Given the description of an element on the screen output the (x, y) to click on. 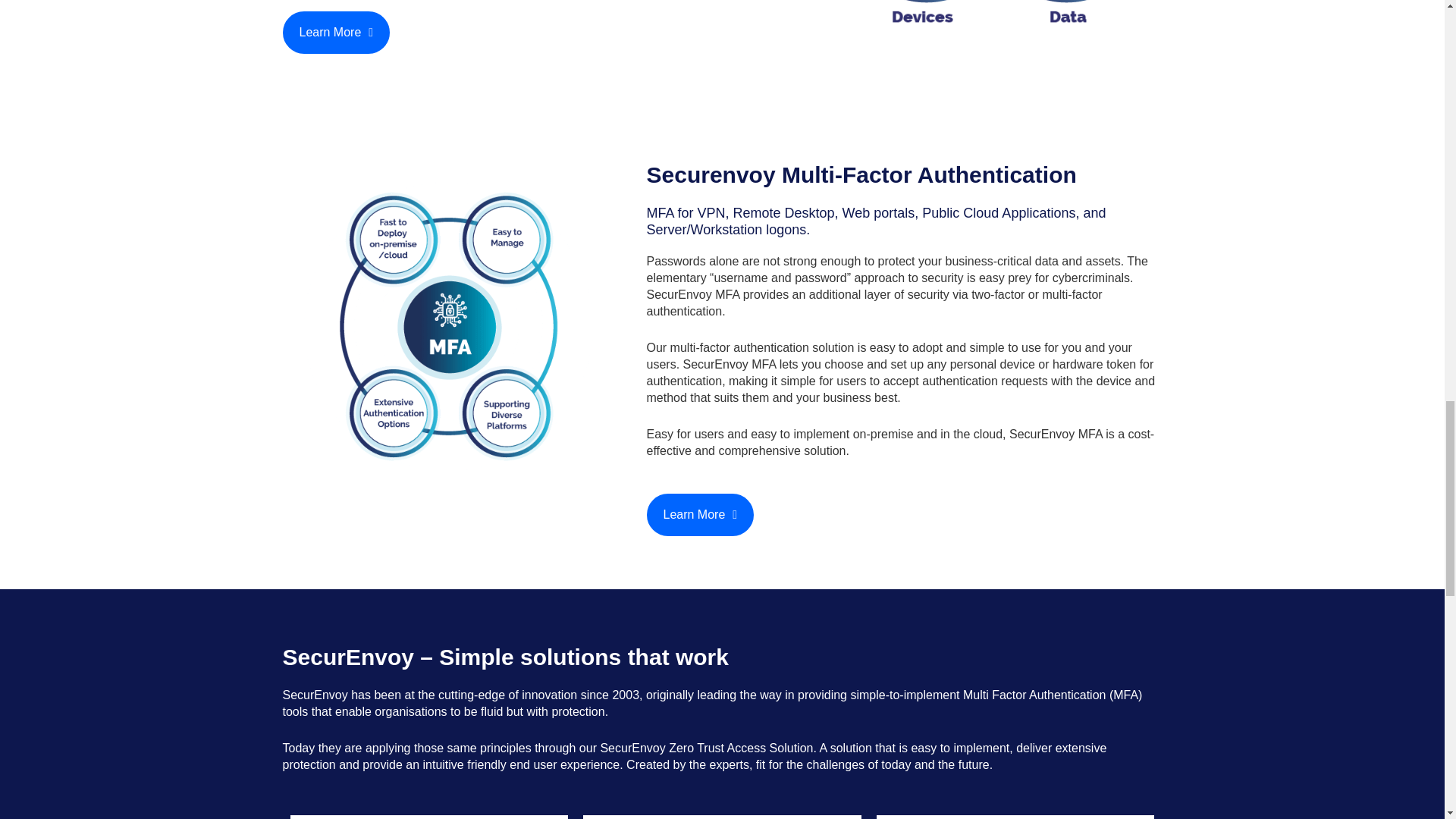
Learn More (336, 32)
Learn More (700, 514)
